Given the description of an element on the screen output the (x, y) to click on. 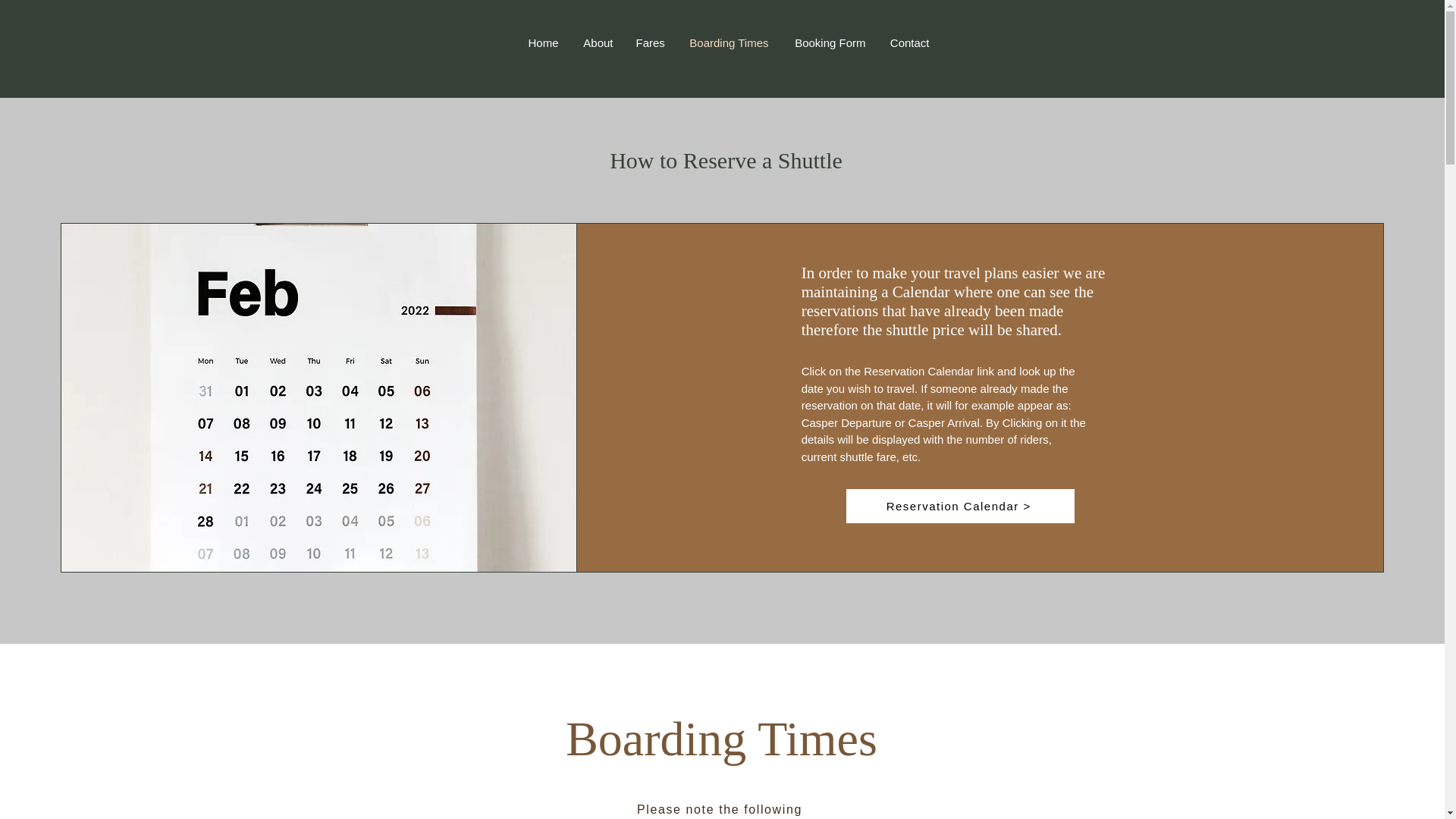
Fares (649, 43)
Booking Form (827, 43)
About (597, 43)
Contact (908, 43)
Boarding Times (726, 43)
Home (541, 43)
